Given the description of an element on the screen output the (x, y) to click on. 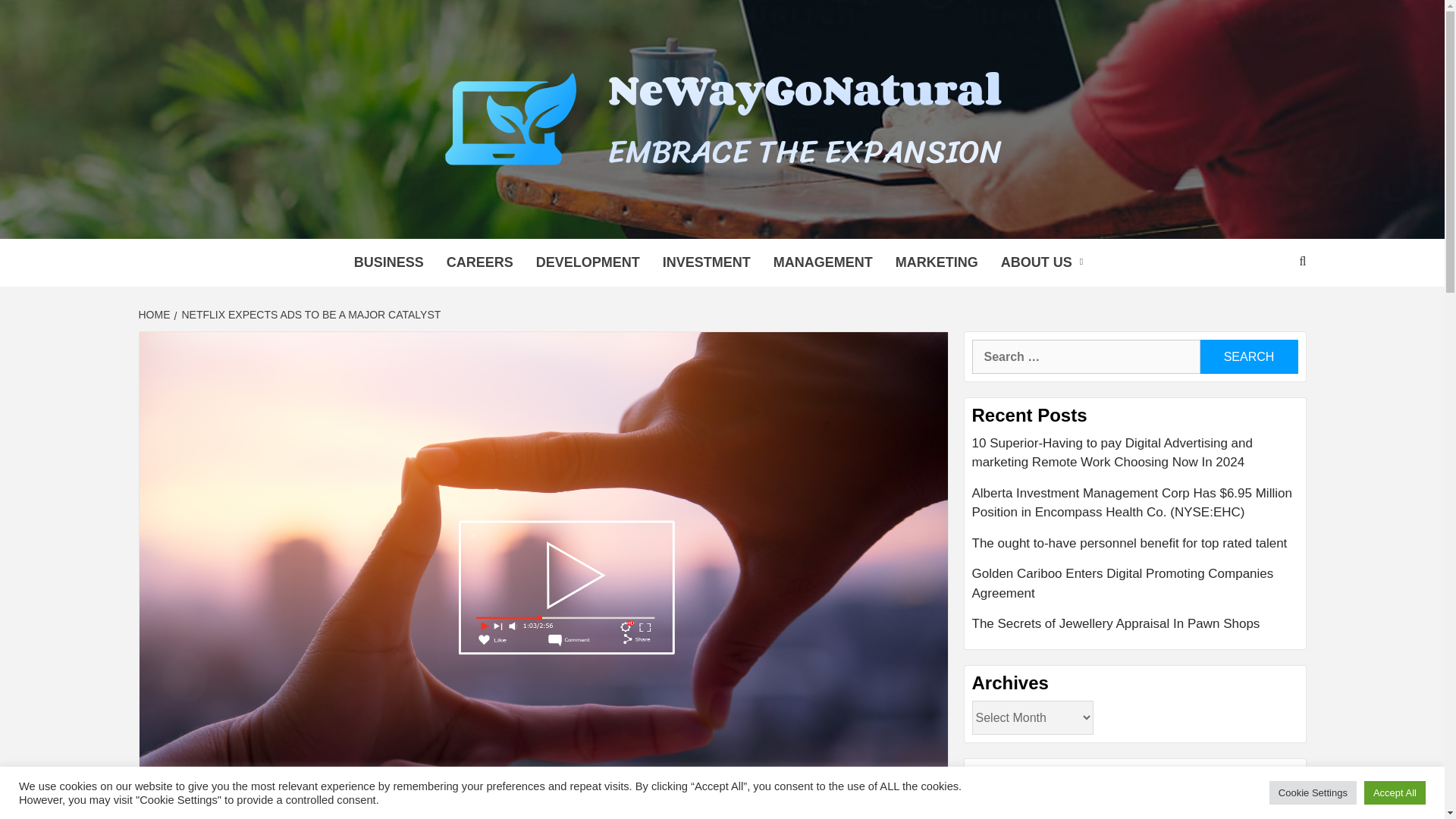
HOME (155, 314)
BUSINESS (388, 262)
Cookie Settings (1312, 792)
The Secrets of Jewellery Appraisal In Pawn Shops (1135, 623)
Search (1248, 356)
NETFLIX EXPECTS ADS TO BE A MAJOR CATALYST (309, 314)
The ought to-have personnel benefit for top rated talent (1135, 549)
INVESTMENT (705, 262)
